Given the description of an element on the screen output the (x, y) to click on. 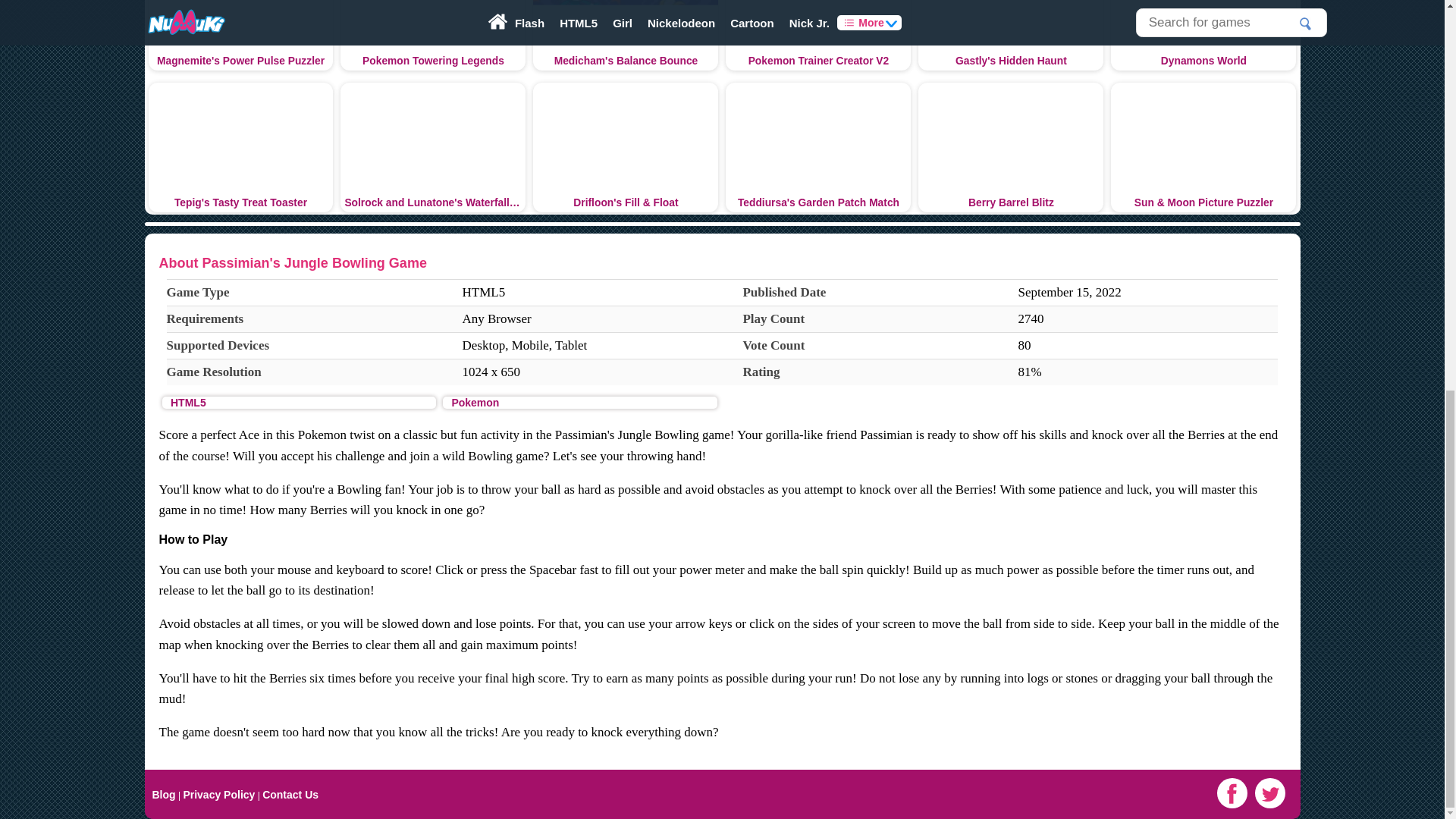
Magnemite's Power Pulse Puzzler (240, 35)
